Given the description of an element on the screen output the (x, y) to click on. 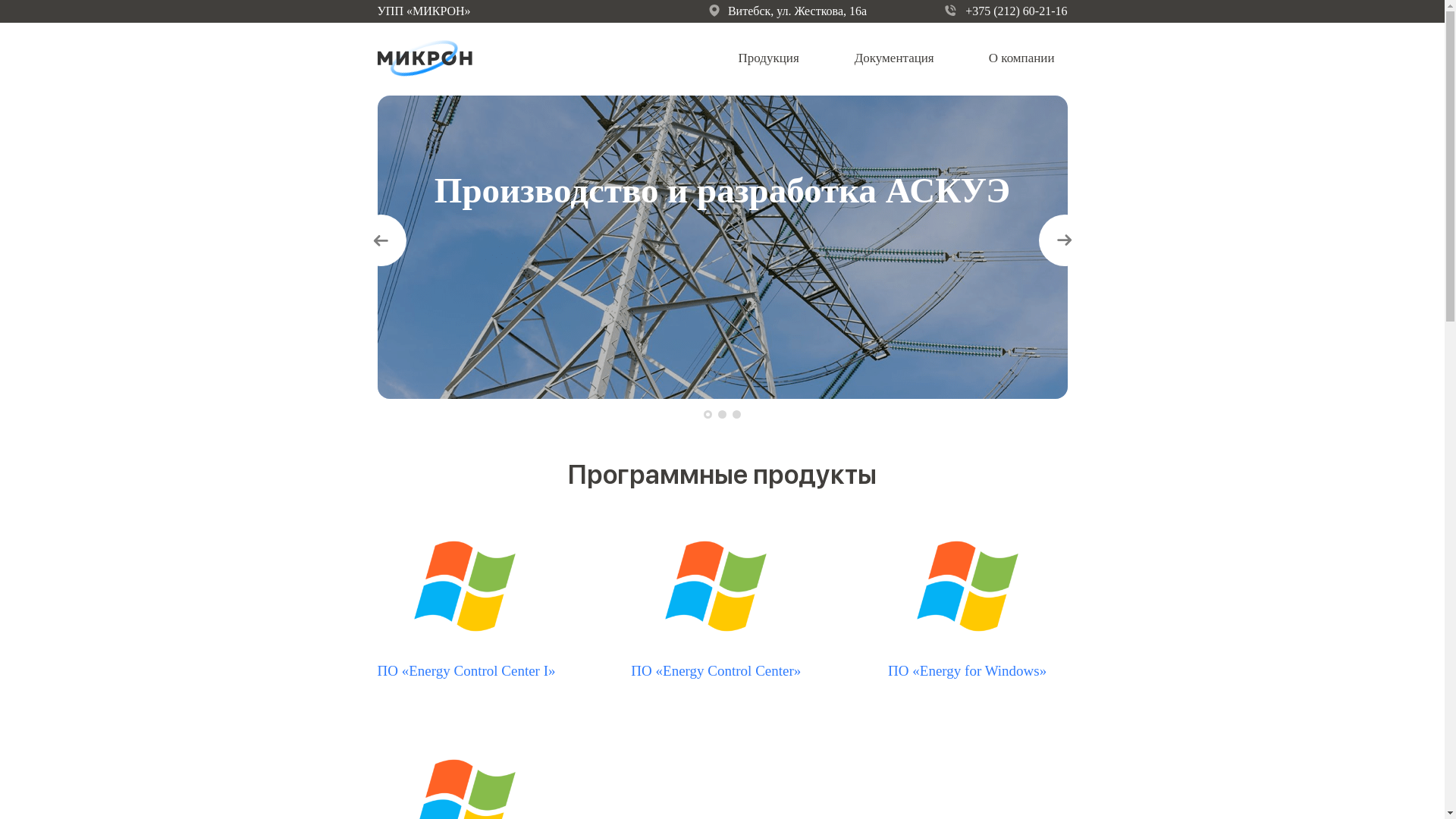
+375 (212) 60-21-16 Element type: text (1005, 11)
